Given the description of an element on the screen output the (x, y) to click on. 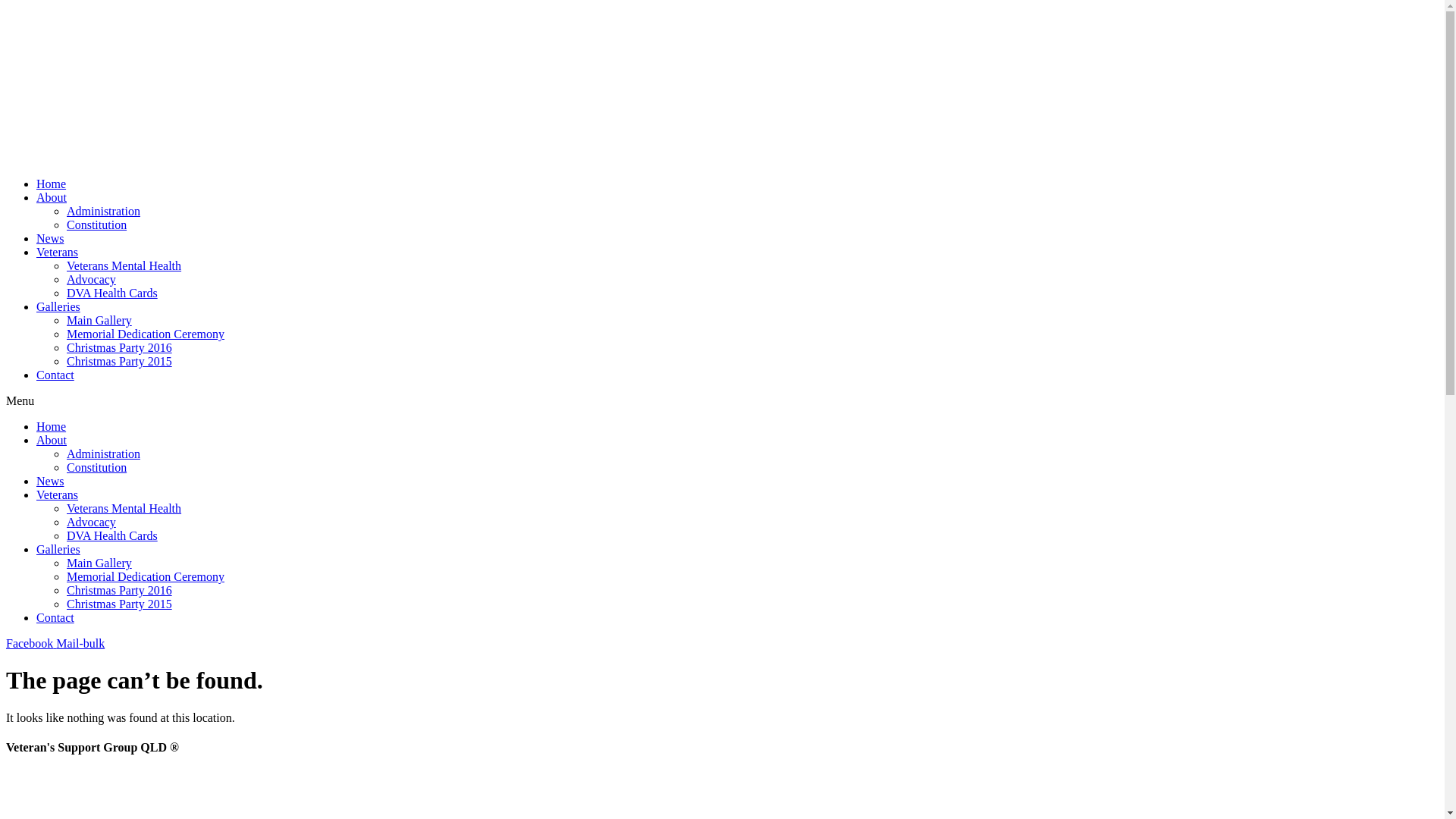
Constitution Element type: text (96, 224)
Administration Element type: text (103, 210)
Galleries Element type: text (58, 548)
Constitution Element type: text (96, 467)
DVA Health Cards Element type: text (111, 292)
Home Element type: text (50, 426)
About Element type: text (51, 439)
Administration Element type: text (103, 453)
DVA Health Cards Element type: text (111, 535)
Christmas Party 2015 Element type: text (119, 603)
Contact Element type: text (55, 617)
News Element type: text (49, 238)
Home Element type: text (50, 183)
Veterans Mental Health Element type: text (123, 508)
Galleries Element type: text (58, 306)
Contact Element type: text (55, 374)
Christmas Party 2016 Element type: text (119, 589)
Main Gallery Element type: text (98, 562)
Advocacy Element type: text (91, 521)
Christmas Party 2015 Element type: text (119, 360)
Advocacy Element type: text (91, 279)
Veterans Mental Health Element type: text (123, 265)
Memorial Dedication Ceremony Element type: text (145, 333)
Veterans Element type: text (57, 494)
News Element type: text (49, 480)
Facebook Element type: text (31, 643)
Memorial Dedication Ceremony Element type: text (145, 576)
About Element type: text (51, 197)
Christmas Party 2016 Element type: text (119, 347)
Veterans Element type: text (57, 251)
Mail-bulk Element type: text (80, 643)
Main Gallery Element type: text (98, 319)
